Given the description of an element on the screen output the (x, y) to click on. 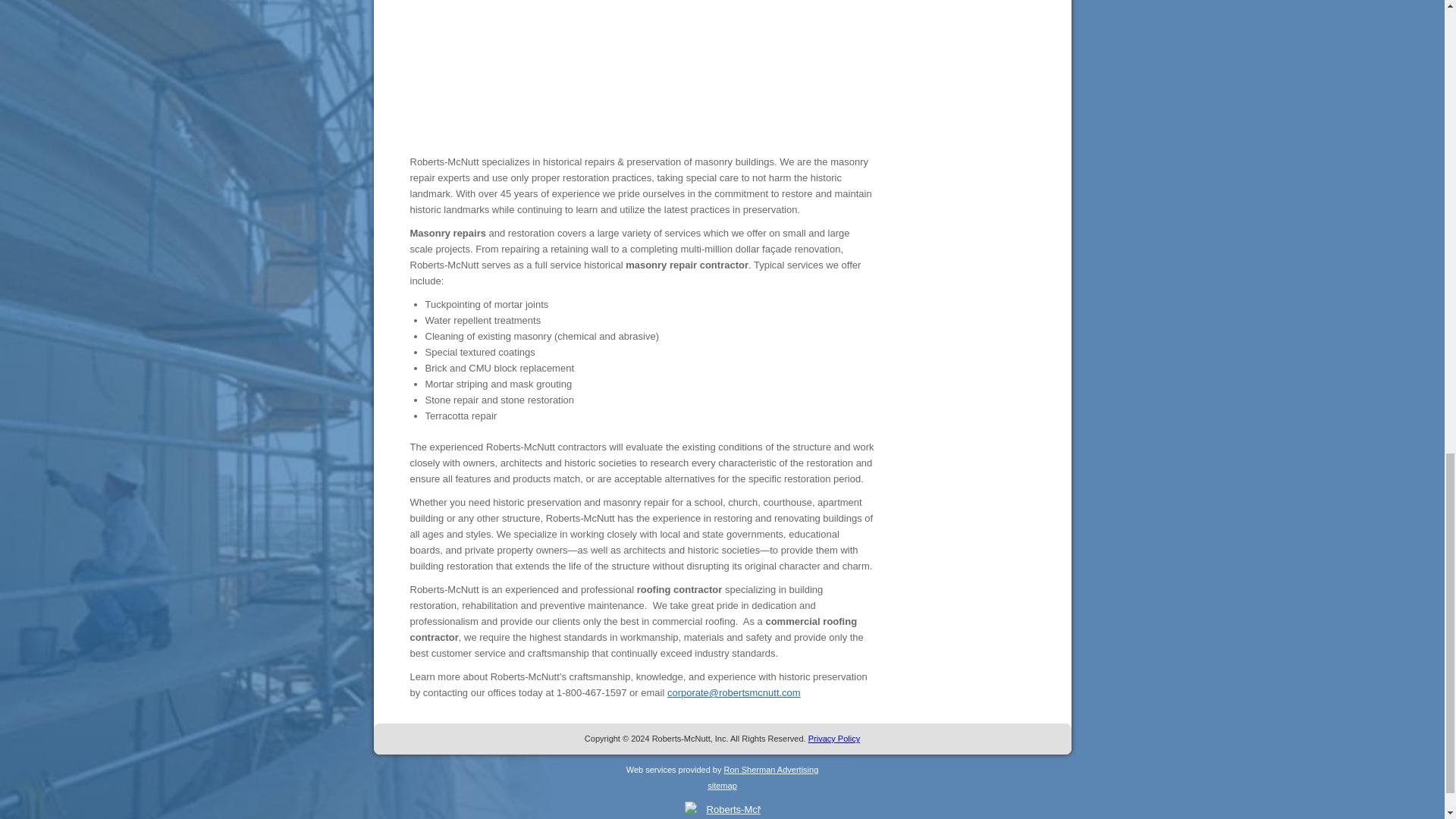
Ron Sherman Advertising (770, 768)
sitemap (721, 785)
Privacy Policy (834, 737)
